Given the description of an element on the screen output the (x, y) to click on. 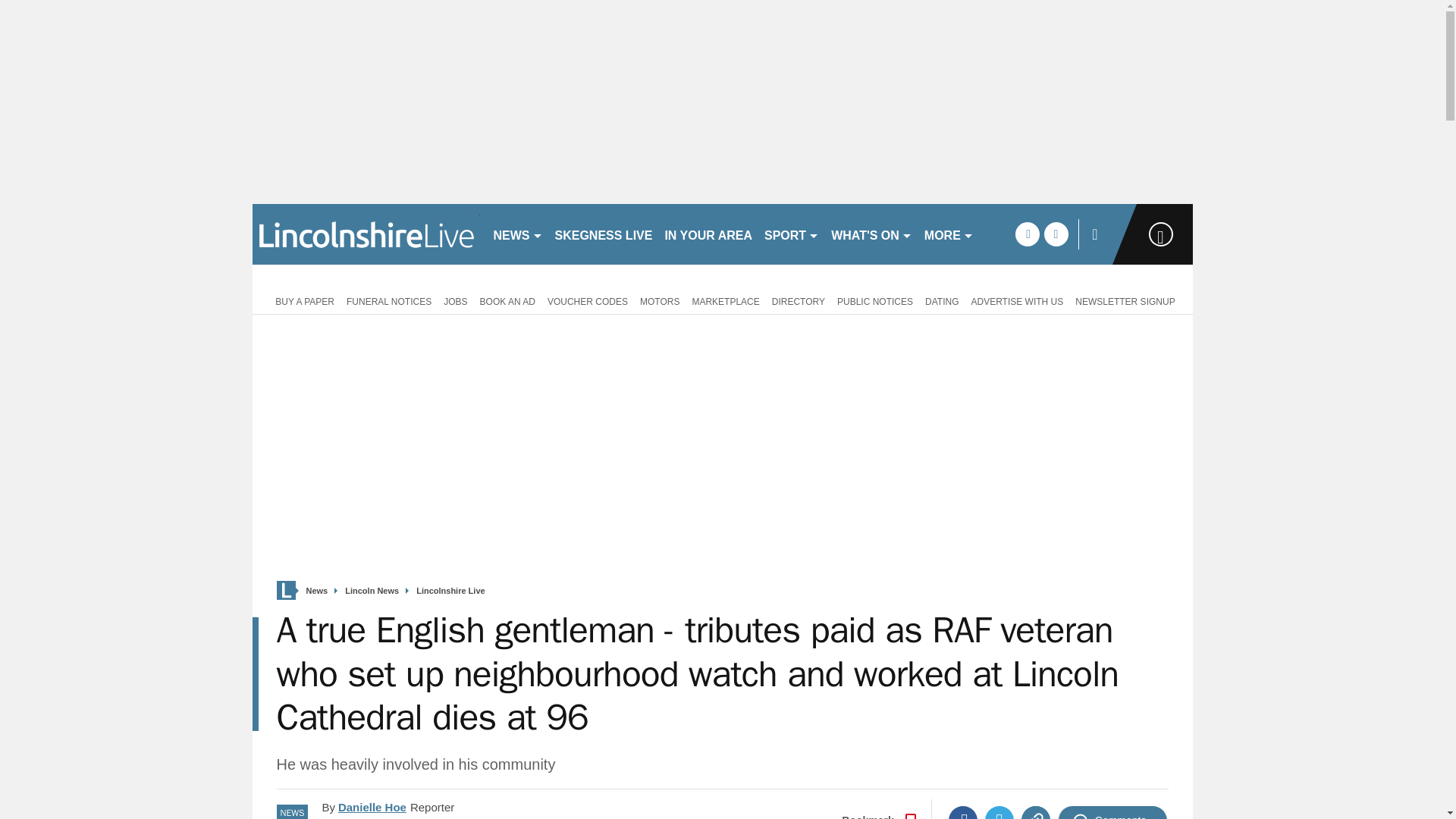
IN YOUR AREA (708, 233)
BUY A PAPER (301, 300)
Comments (1112, 812)
Twitter (999, 812)
facebook (1026, 233)
WHAT'S ON (871, 233)
NEWS (517, 233)
SKEGNESS LIVE (603, 233)
twitter (1055, 233)
MORE (948, 233)
